Given the description of an element on the screen output the (x, y) to click on. 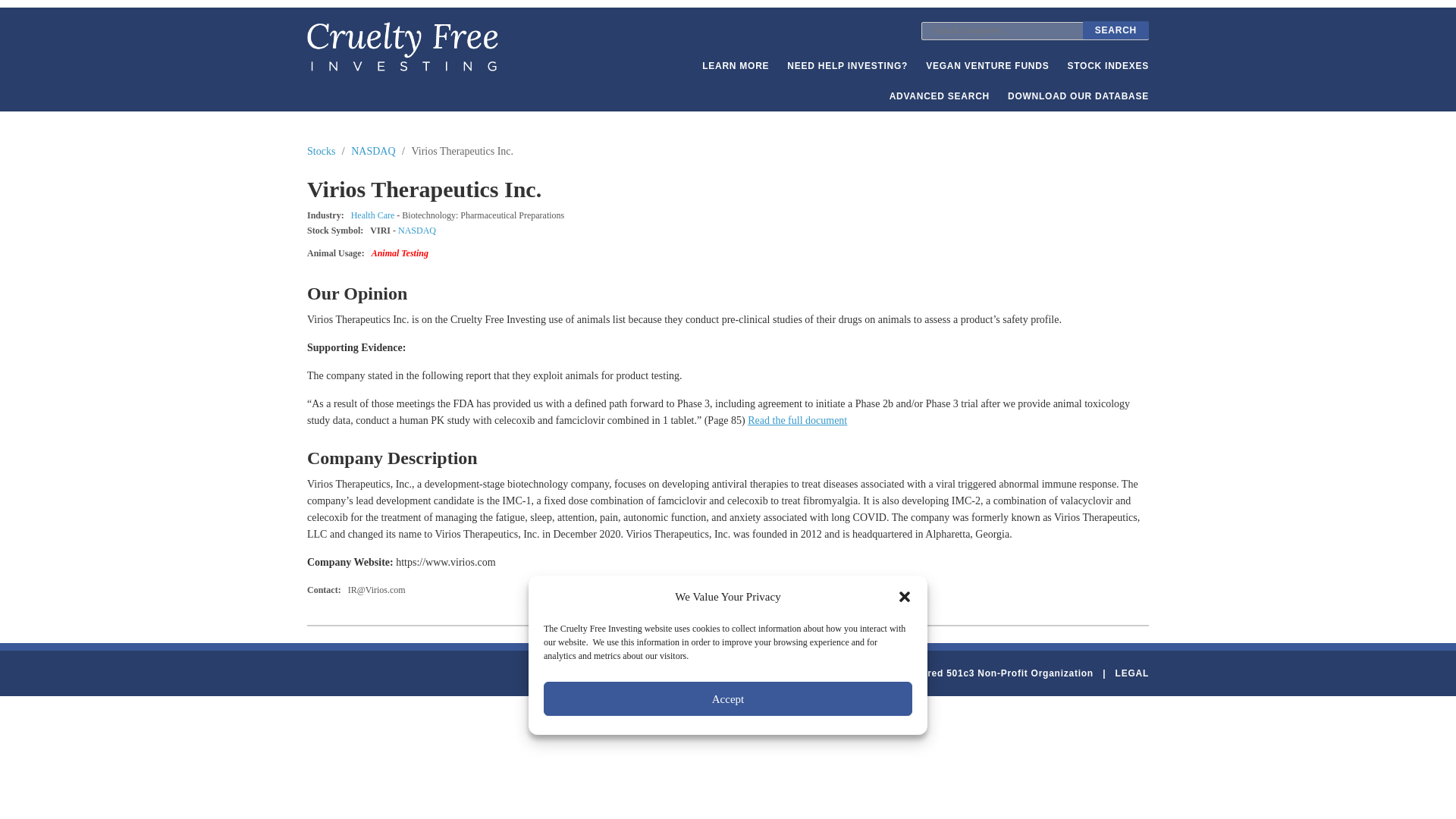
Read the full document (797, 419)
Animal Testing (399, 253)
Cruelty Free Investing (402, 46)
STOCK INDEXES (1107, 65)
NASDAQ (372, 151)
NEED HELP INVESTING? (847, 65)
NASDAQ (416, 230)
SEARCH (1115, 30)
SEARCH (1115, 30)
VEGAN VENTURE FUNDS (987, 65)
